Given the description of an element on the screen output the (x, y) to click on. 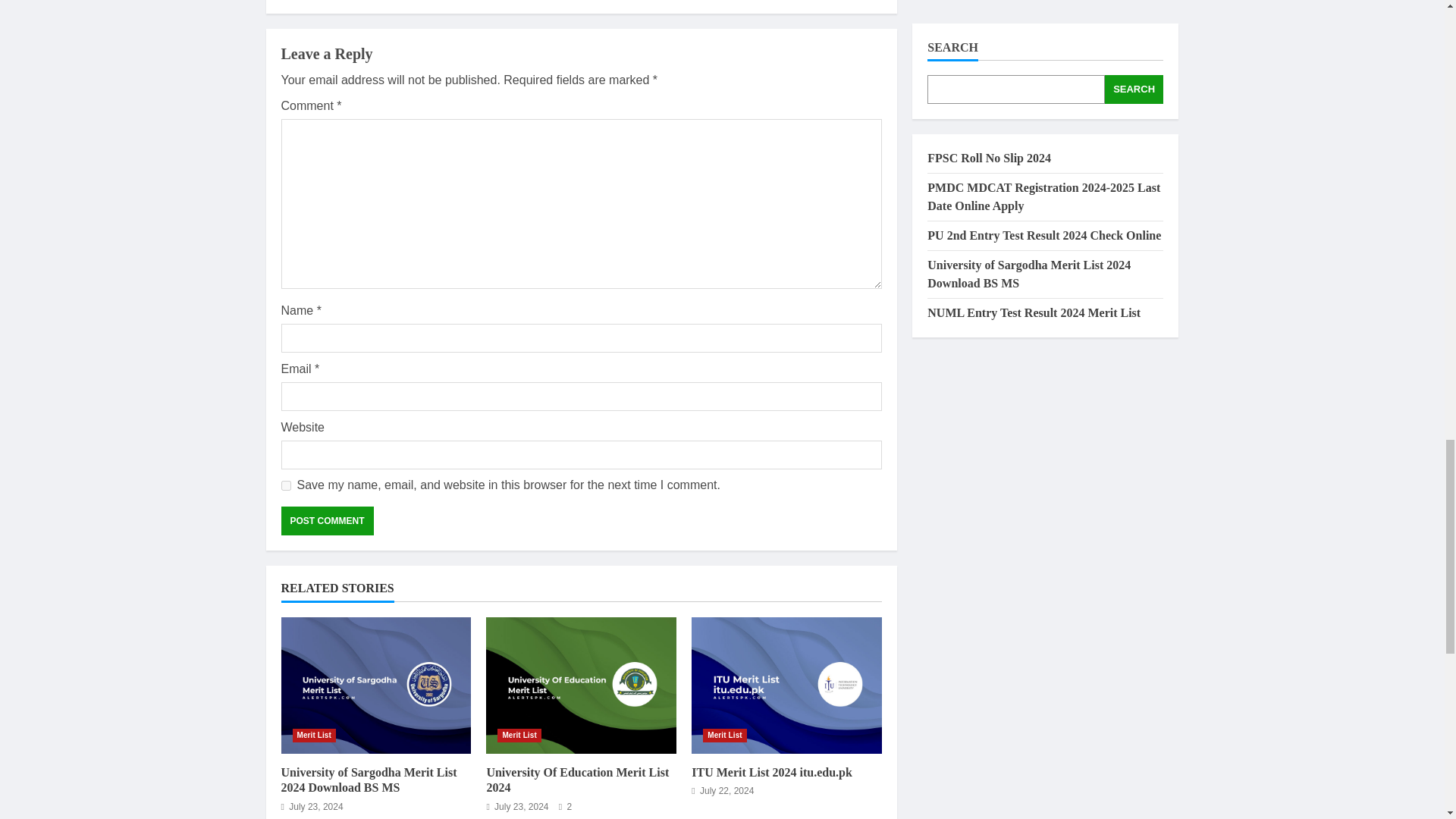
University of Sargodha Merit List 2024 Download BS MS (369, 779)
Merit List (724, 735)
Merit List (518, 735)
Post Comment (326, 520)
University Of Education Merit List 2024 (581, 685)
Merit List (314, 735)
2 (565, 806)
University Of Education Merit List 2024 (577, 779)
University of Sargodha Merit List 2024 Download BS MS (375, 685)
yes (285, 485)
Post Comment (326, 520)
ITU Merit List 2024 itu.edu.pk (786, 685)
ITU Merit List 2024 itu.edu.pk (771, 771)
